Given the description of an element on the screen output the (x, y) to click on. 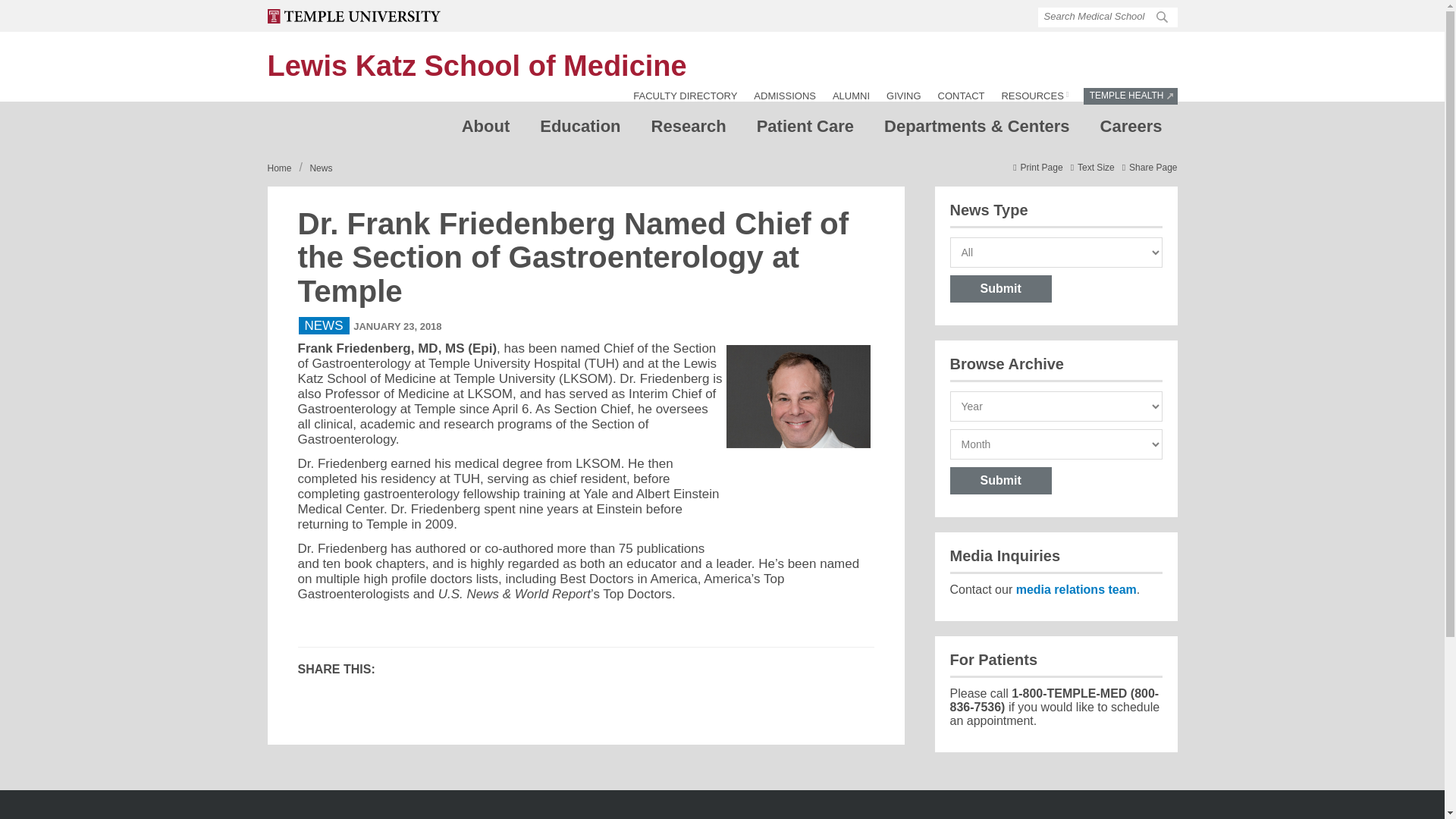
FACULTY DIRECTORY (684, 95)
month (475, 65)
Submit (1055, 444)
Submit (1000, 288)
Careers (1000, 480)
About (1130, 129)
RESOURCES (485, 129)
ALUMNI (1034, 95)
GIVING (850, 95)
